Given the description of an element on the screen output the (x, y) to click on. 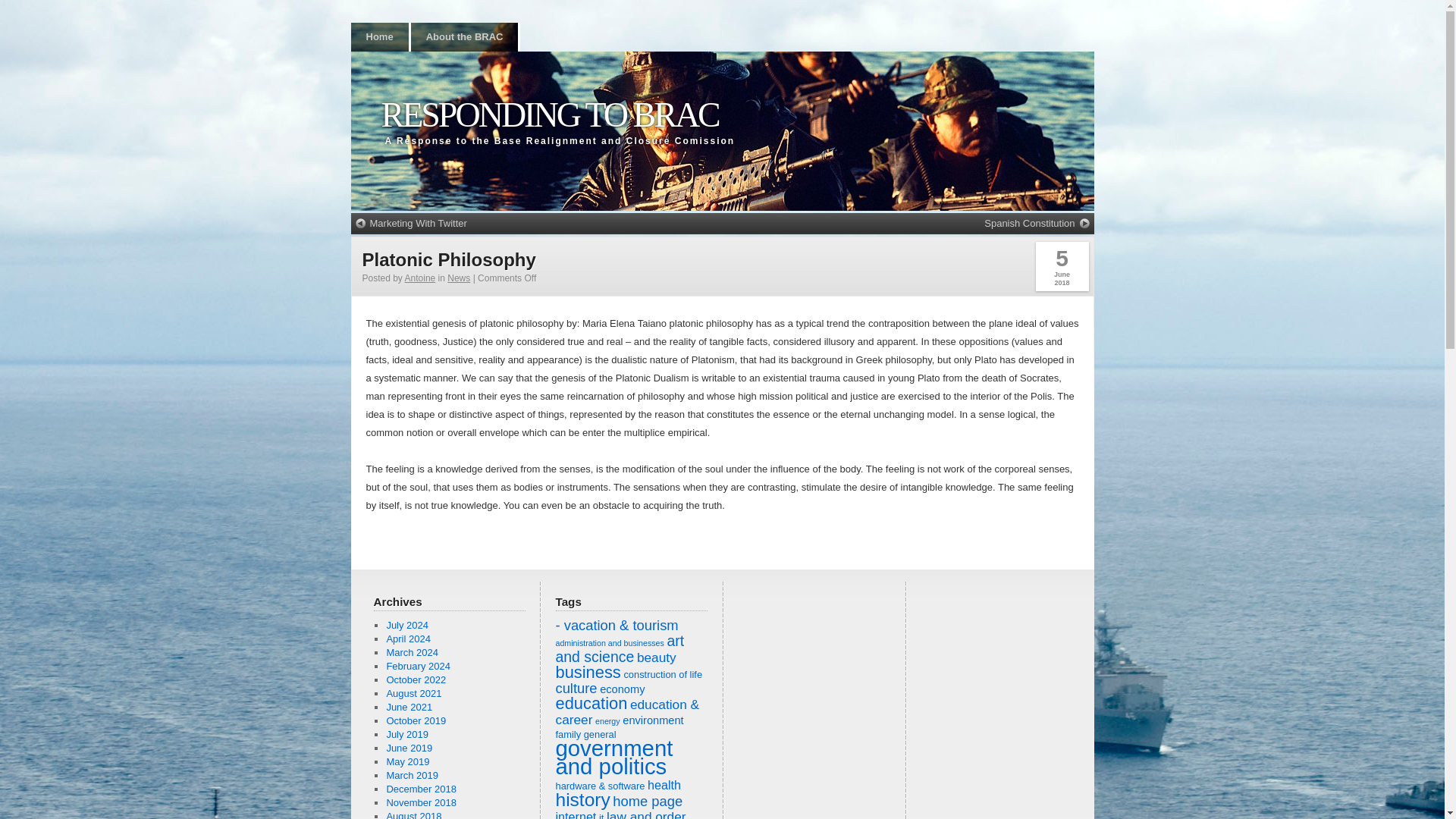
9:02 am (1062, 266)
July 2019 (406, 734)
December 2018 (421, 788)
June 2021 (408, 706)
Platonic Philosophy (448, 259)
Home (378, 36)
May 2019 (407, 761)
August 2018 (413, 814)
June 2019 (408, 747)
April 2024 (407, 638)
October 2022 (415, 679)
November 2018 (421, 802)
February 2024 (417, 665)
October 2019 (415, 720)
About the BRAC (464, 36)
